Given the description of an element on the screen output the (x, y) to click on. 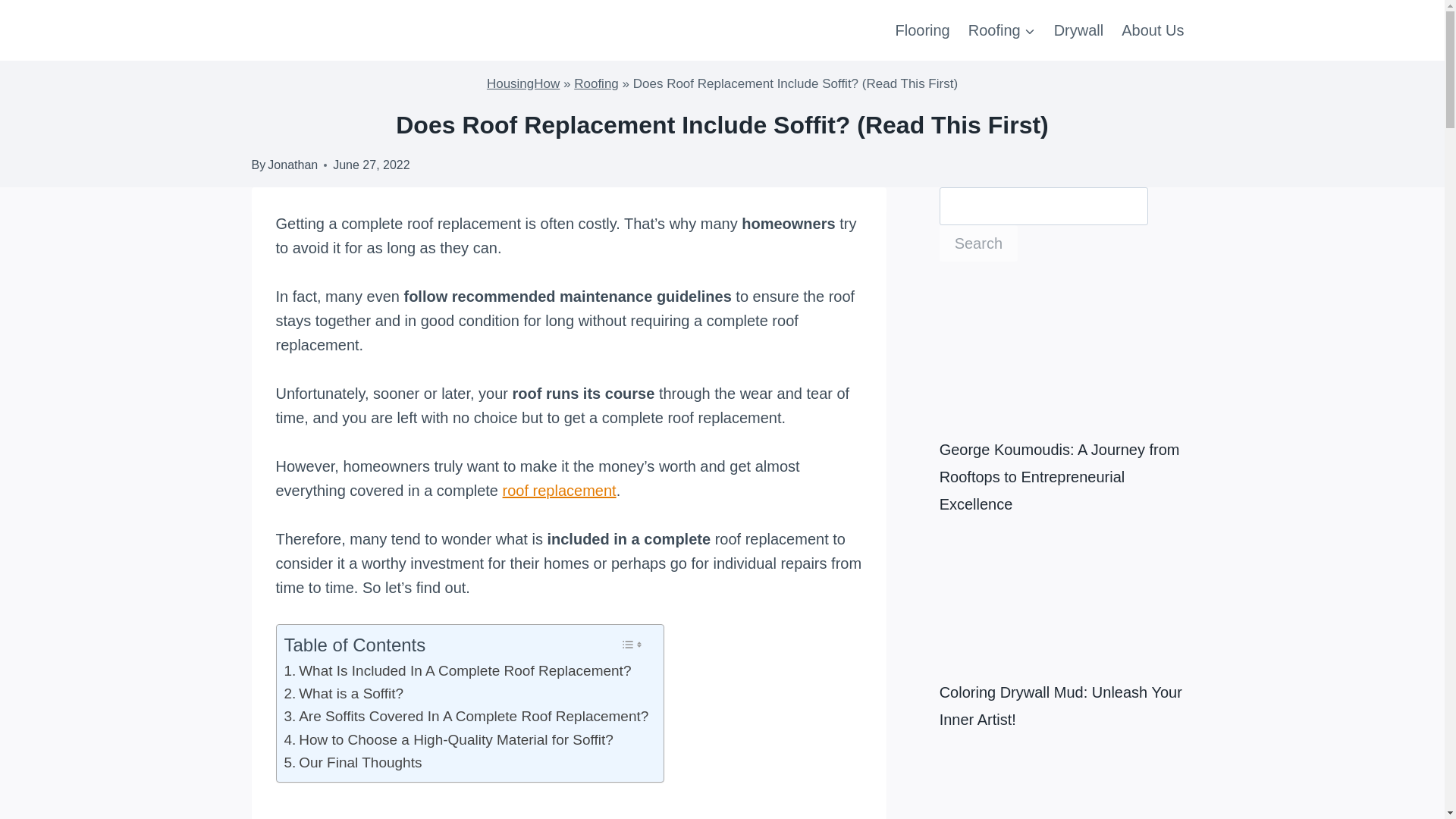
Are Soffits Covered In A Complete Roof Replacement? (465, 716)
Are Soffits Covered In A Complete Roof Replacement? (465, 716)
Coloring Drywall Mud: Unleash Your Inner Artist! (1053, 607)
Our Final Thoughts (352, 762)
Roofing (595, 83)
About Us (1152, 30)
Roofing (1002, 30)
What is a Soffit? (343, 693)
How to Choose a High-Quality Material for Soffit? (447, 739)
What Is Included In A Complete Roof Replacement? (456, 671)
What is a Soffit? (343, 693)
Our Final Thoughts (352, 762)
HousingHow (522, 83)
